Given the description of an element on the screen output the (x, y) to click on. 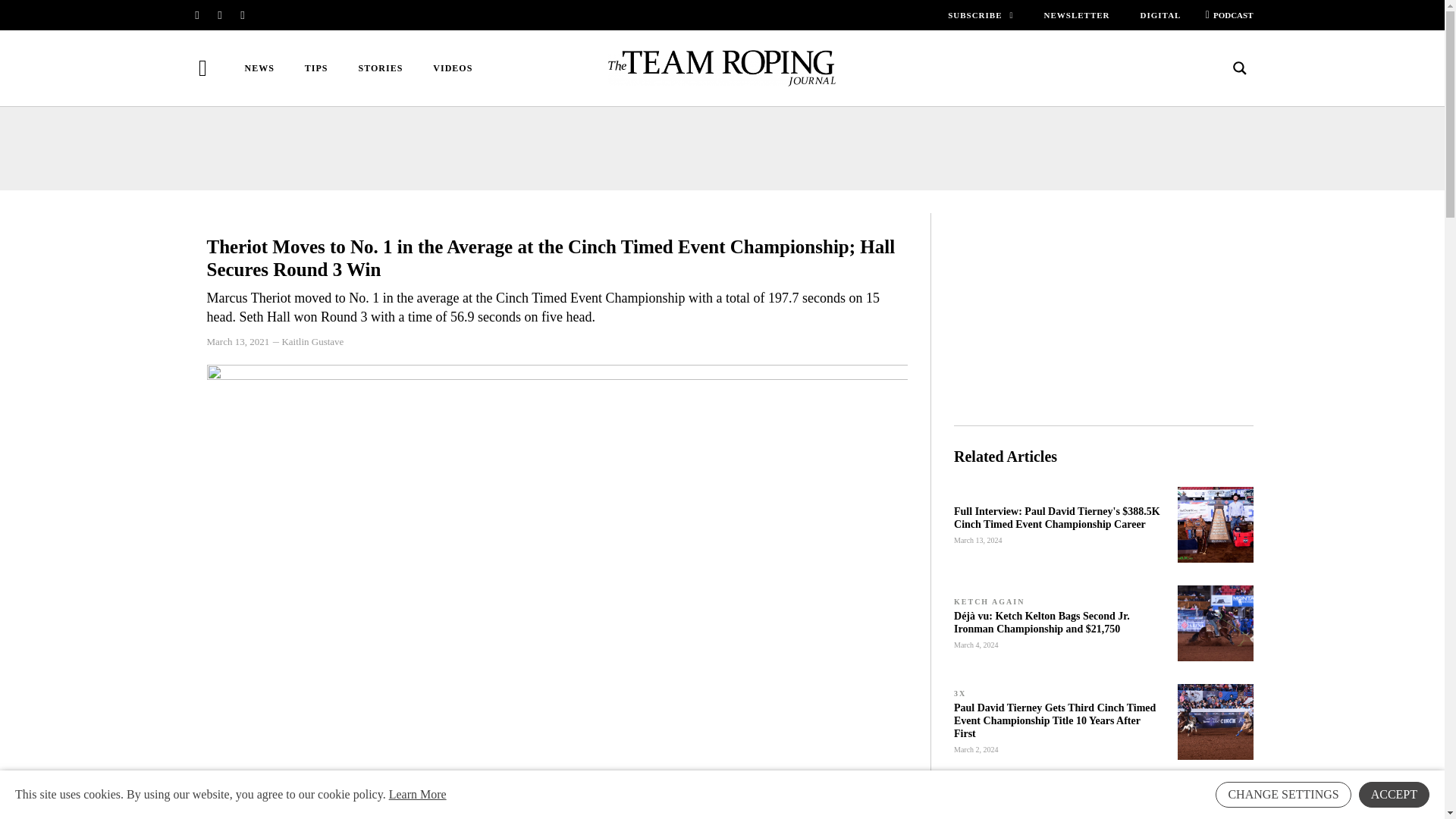
DIGITAL (1160, 14)
SUBSCRIBE (980, 14)
PODCAST (1223, 15)
3rd party ad content (721, 148)
NEWSLETTER (1076, 14)
3rd party ad content (1103, 307)
